Given the description of an element on the screen output the (x, y) to click on. 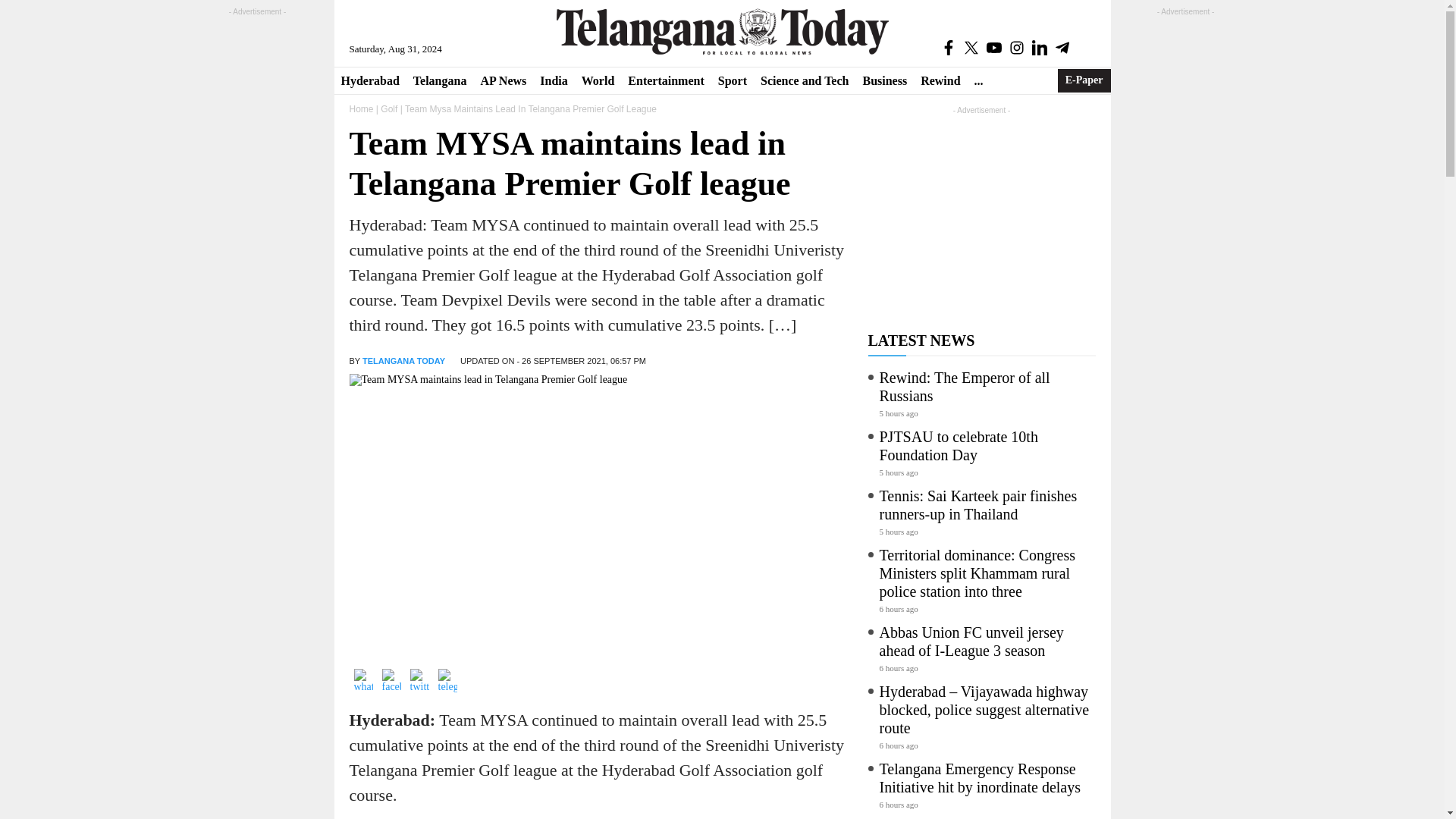
Science and Tech (805, 80)
World (598, 80)
English News (722, 31)
Hyderabad (369, 80)
Rewind (940, 80)
India (552, 80)
India (552, 80)
Sport (732, 80)
AP News (502, 80)
Home (360, 109)
